Given the description of an element on the screen output the (x, y) to click on. 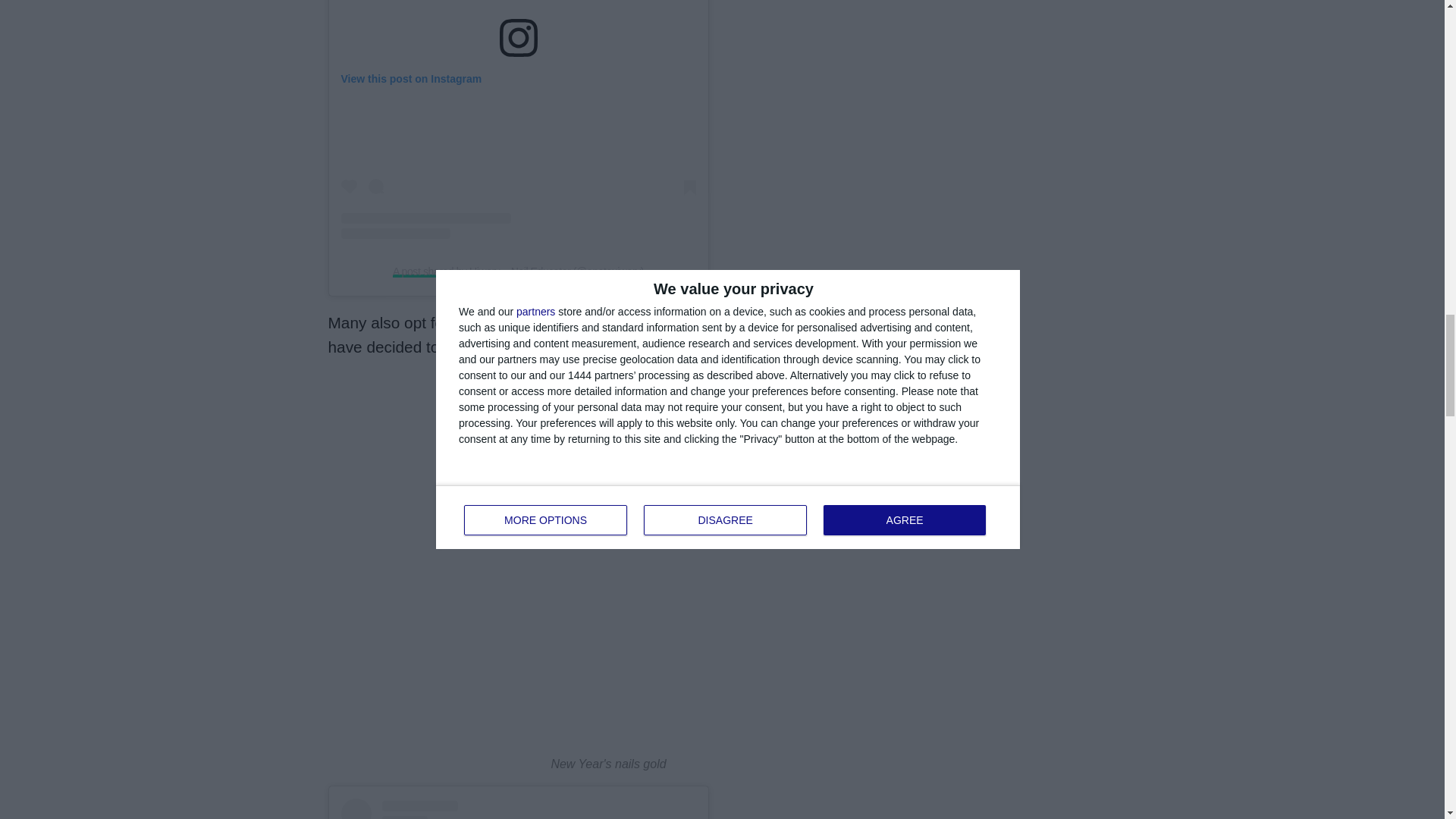
total gold (497, 322)
